Given the description of an element on the screen output the (x, y) to click on. 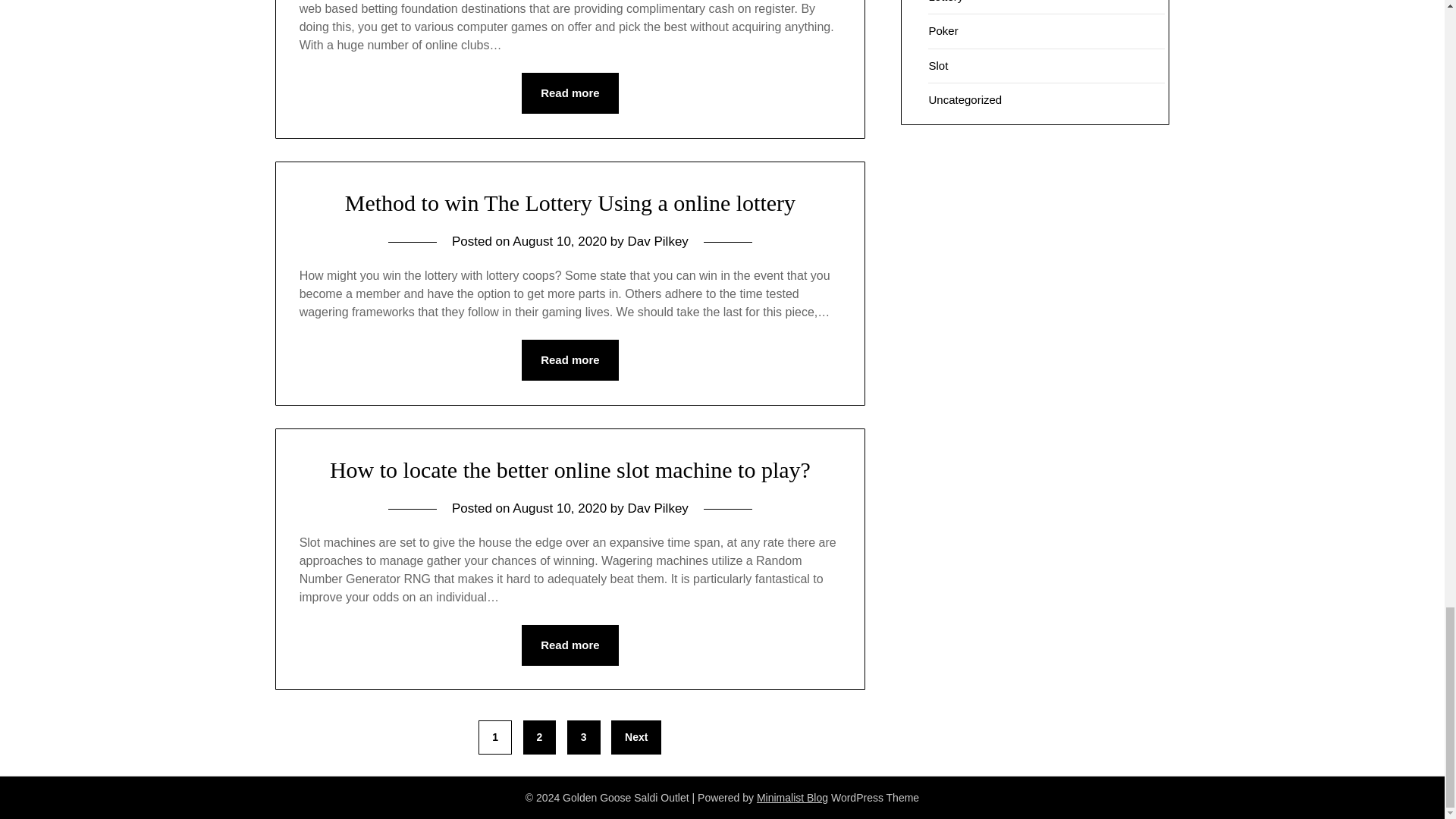
Method to win The Lottery Using a online lottery (569, 202)
Read more (569, 92)
